Given the description of an element on the screen output the (x, y) to click on. 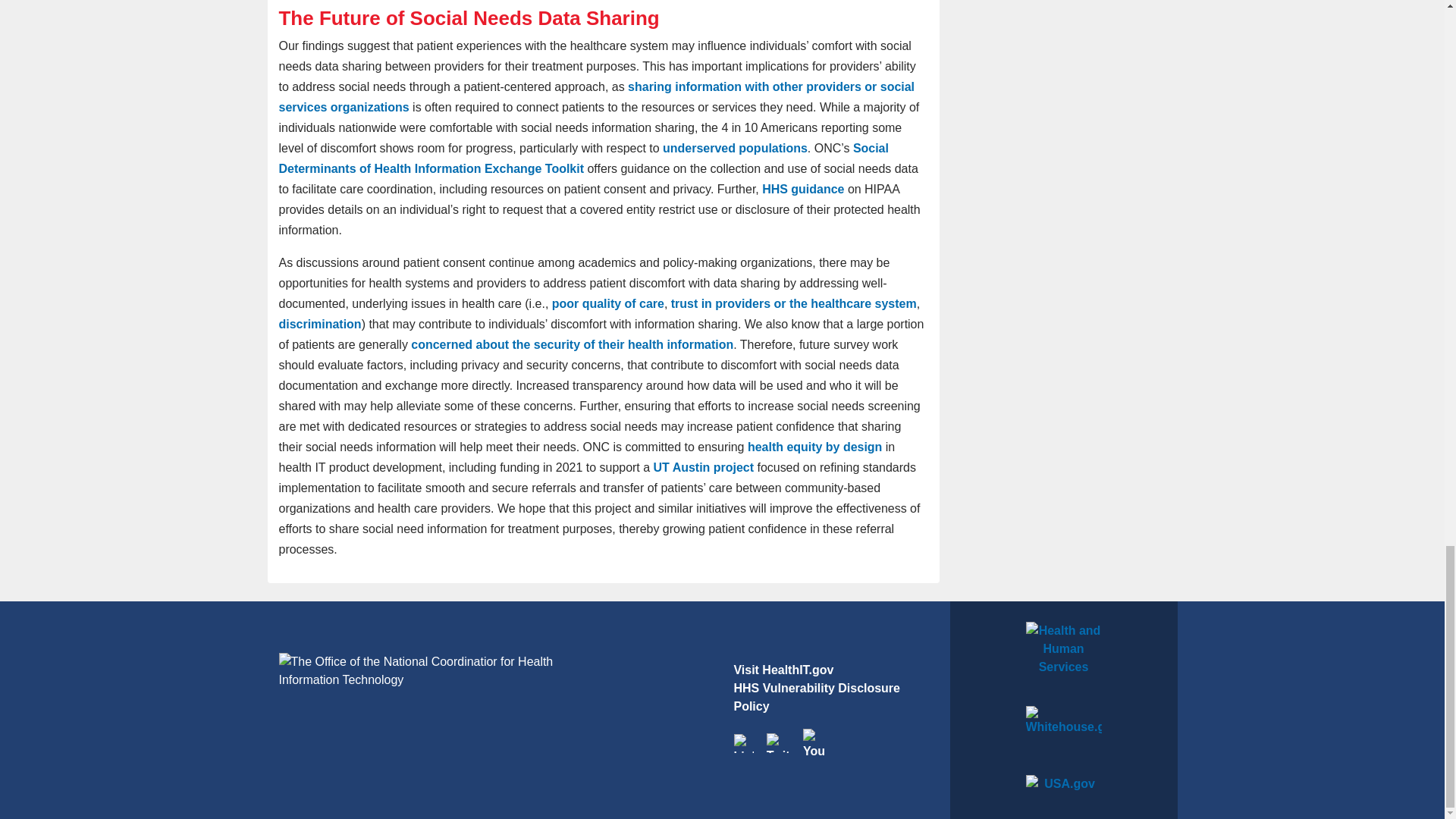
UT Austin project (703, 467)
Social Determinants of Health Information Exchange Toolkit (583, 158)
Health and Human Services (1062, 654)
opens new window to LinkedIn (743, 742)
trust in providers or the healthcare system (794, 303)
health equity by design (815, 446)
concerned about the security of their health information (571, 344)
opens new window to Twitter (778, 742)
HHS guidance (802, 188)
Whitehouse.gov (1062, 730)
